Given the description of an element on the screen output the (x, y) to click on. 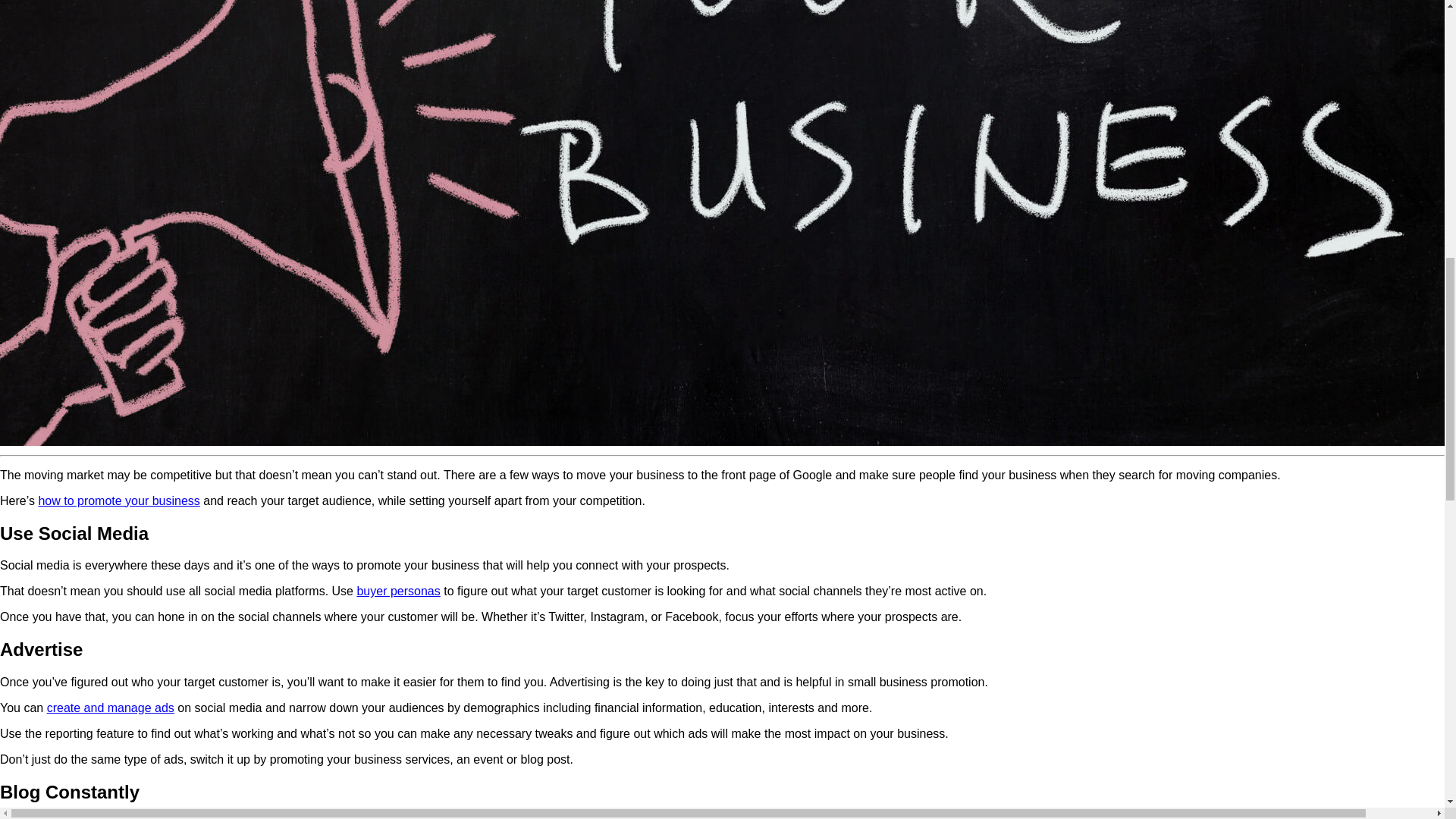
buyer personas (397, 590)
how to promote your business (118, 500)
create and manage ads (110, 707)
